Given the description of an element on the screen output the (x, y) to click on. 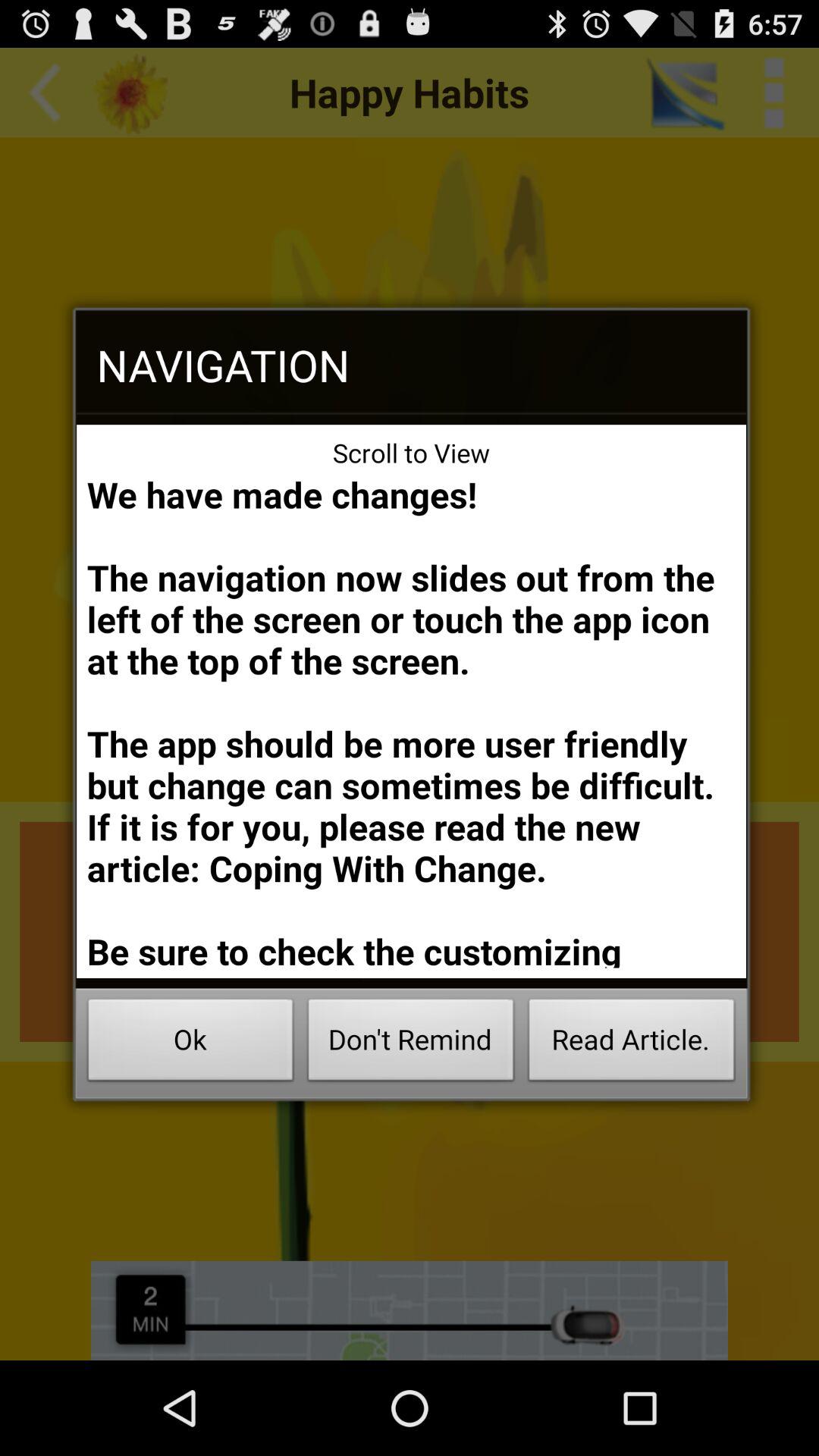
launch button to the left of read article. icon (410, 1044)
